Given the description of an element on the screen output the (x, y) to click on. 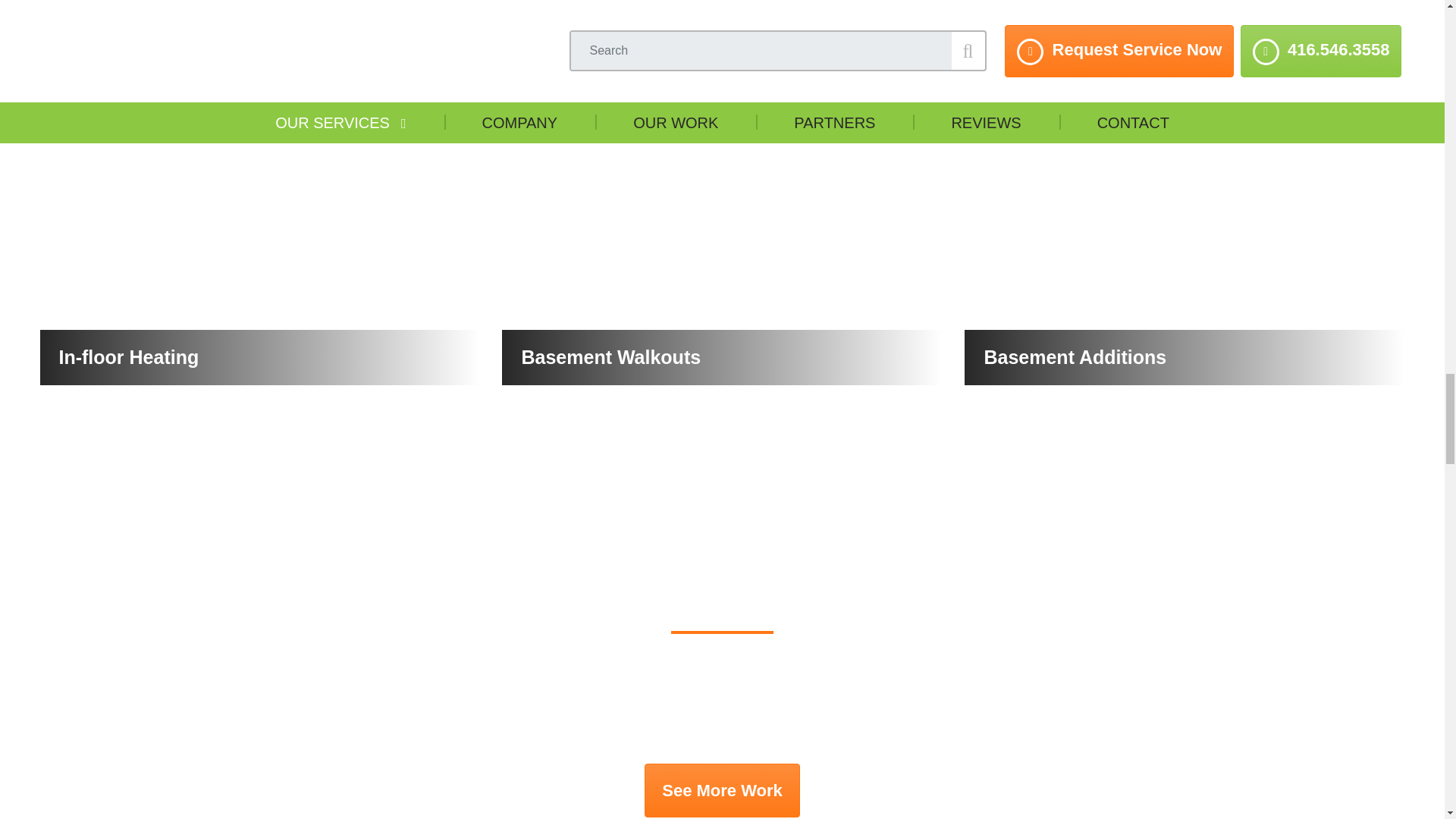
Basement Renovation (259, 15)
Basement WaterProofing (722, 15)
Lowering Basement (1184, 15)
